Given the description of an element on the screen output the (x, y) to click on. 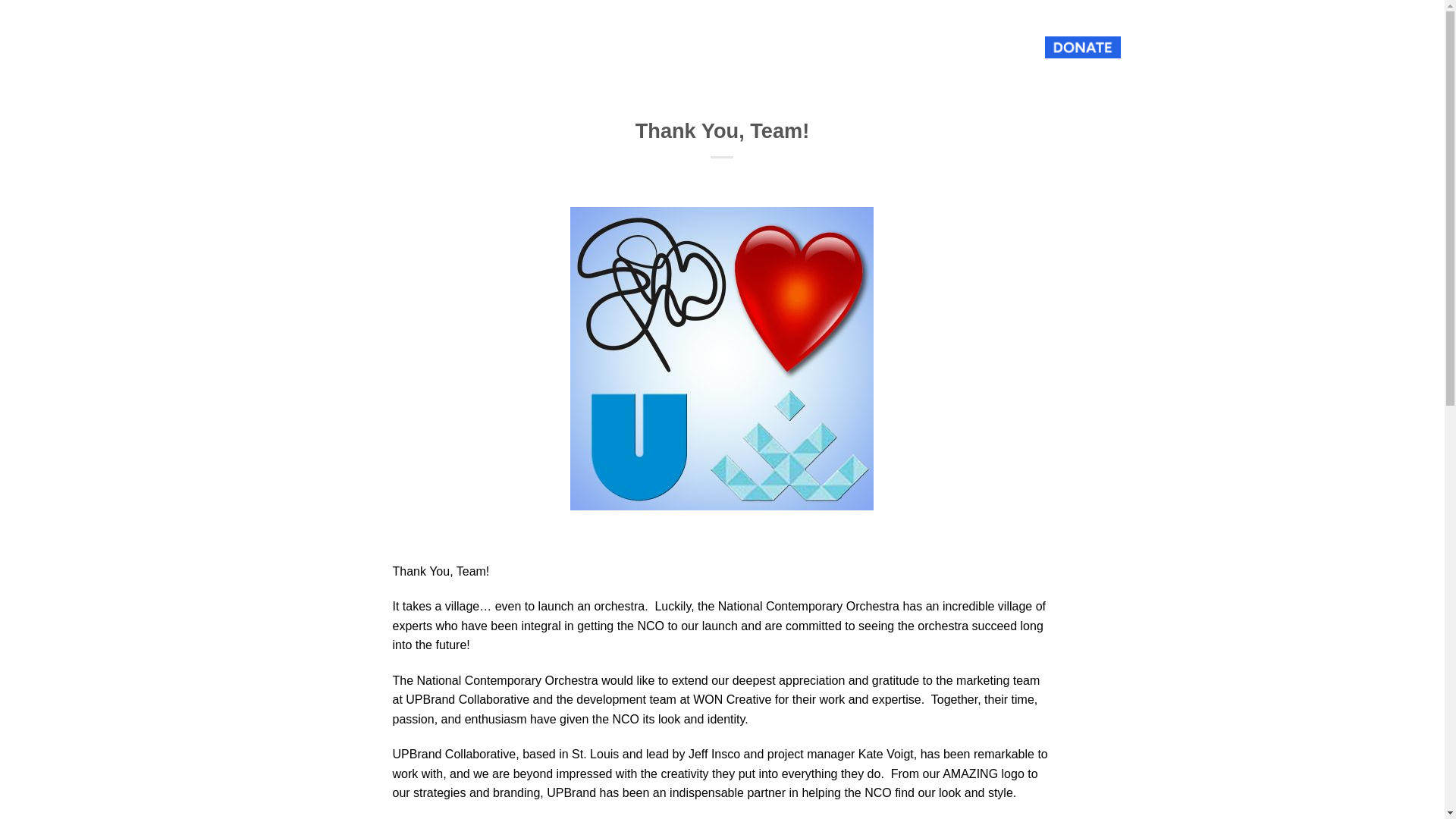
ABOUT (684, 47)
THE LOGO (959, 47)
PERFORMANCES (762, 47)
CONTACT (893, 47)
NEWS (837, 47)
